Given the description of an element on the screen output the (x, y) to click on. 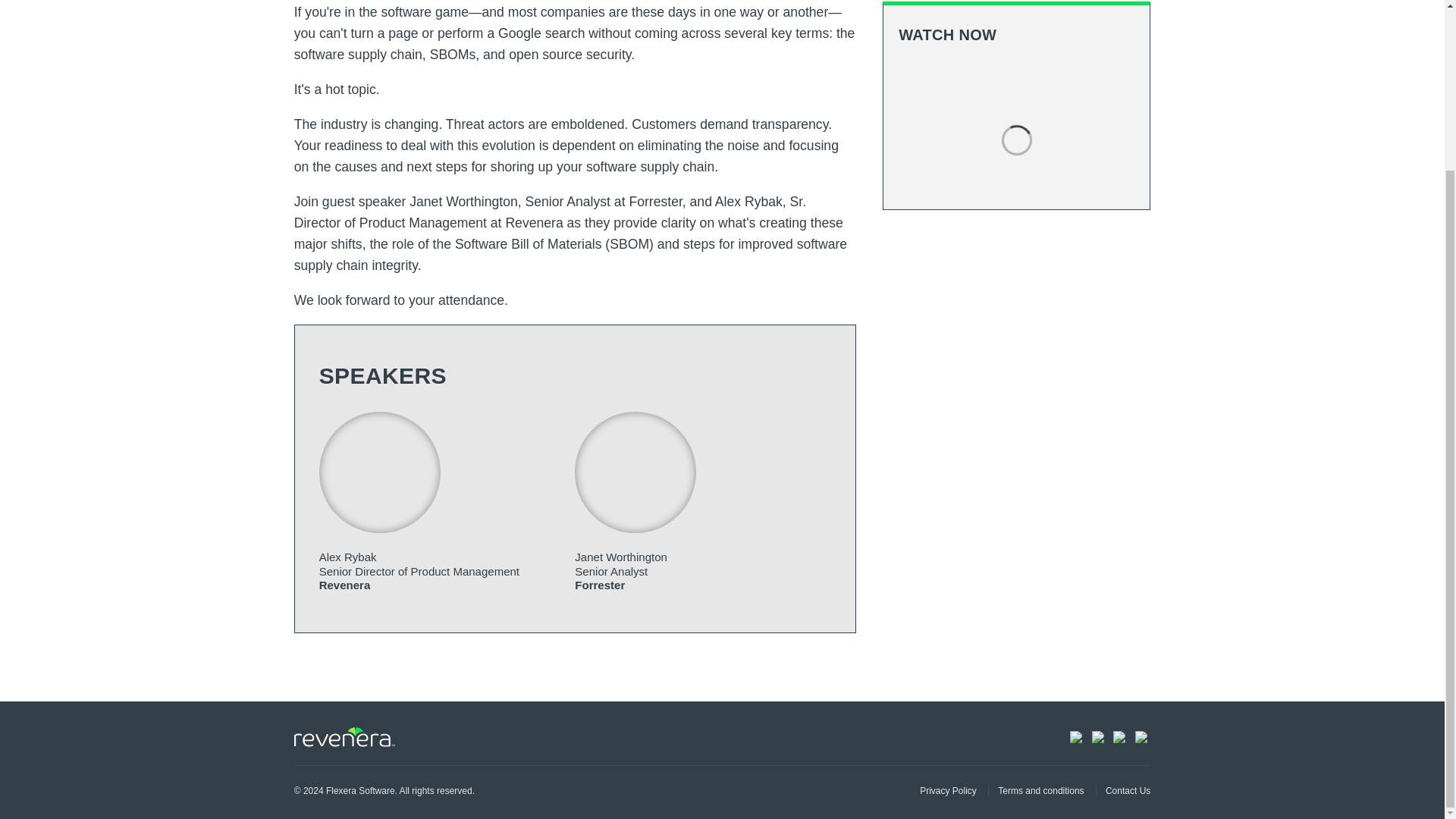
Contact Us (1123, 790)
Watch Now (1016, 78)
Terms and conditions (1035, 790)
Privacy Policy (948, 790)
